Given the description of an element on the screen output the (x, y) to click on. 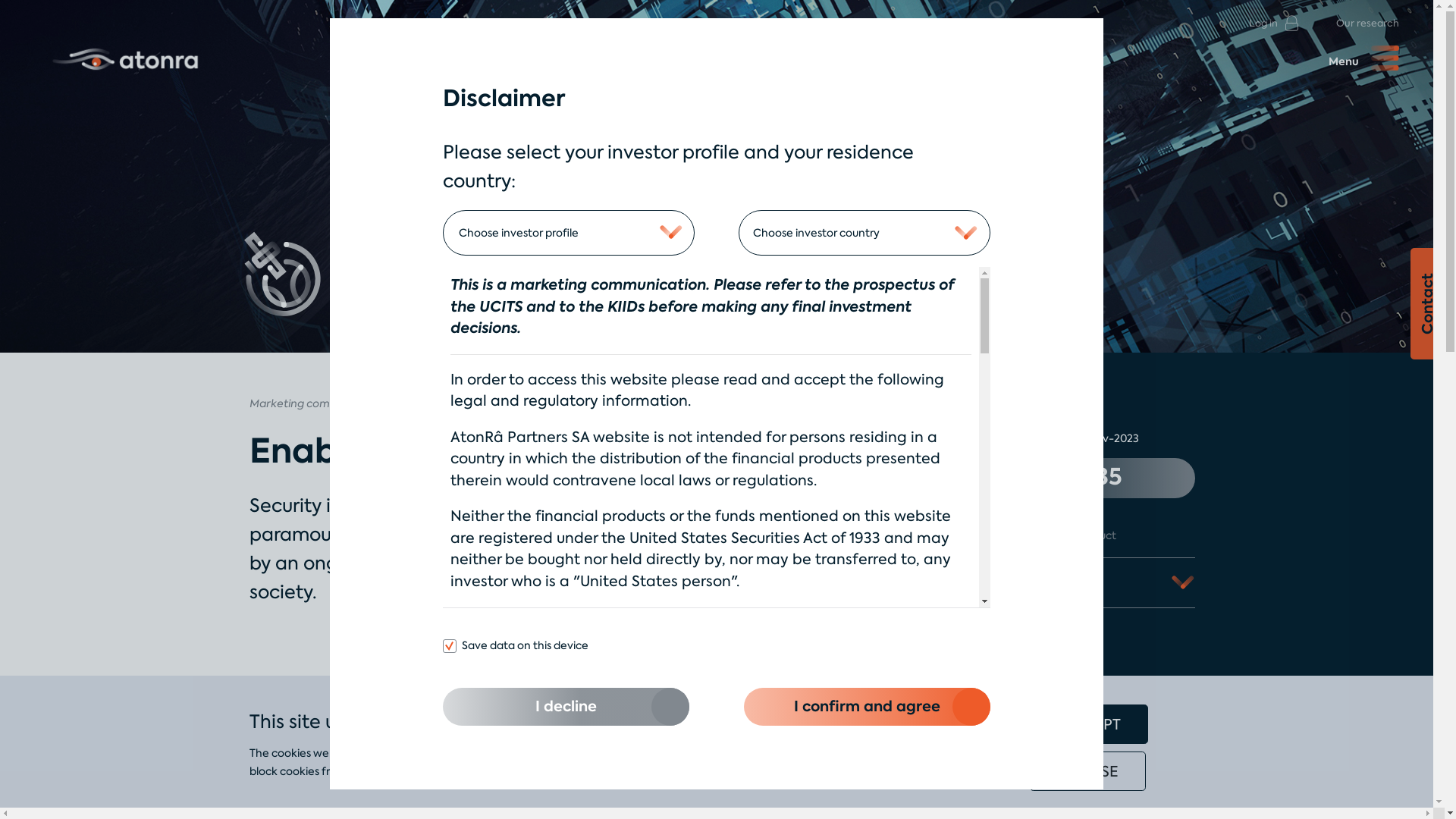
I confirm and agree Element type: text (866, 706)
Log in Element type: text (1273, 23)
Menu Element type: text (1363, 55)
USD NATIXIS CERTIFICATE Element type: text (1087, 582)
I ACCEPT Element type: text (1086, 723)
cookie policy Element type: text (848, 771)
Choose investor profile Element type: text (568, 233)
I REFUSE Element type: text (1087, 770)
I decline Element type: text (565, 706)
Our research Element type: text (1367, 23)
138.35 Element type: text (1087, 478)
